Given the description of an element on the screen output the (x, y) to click on. 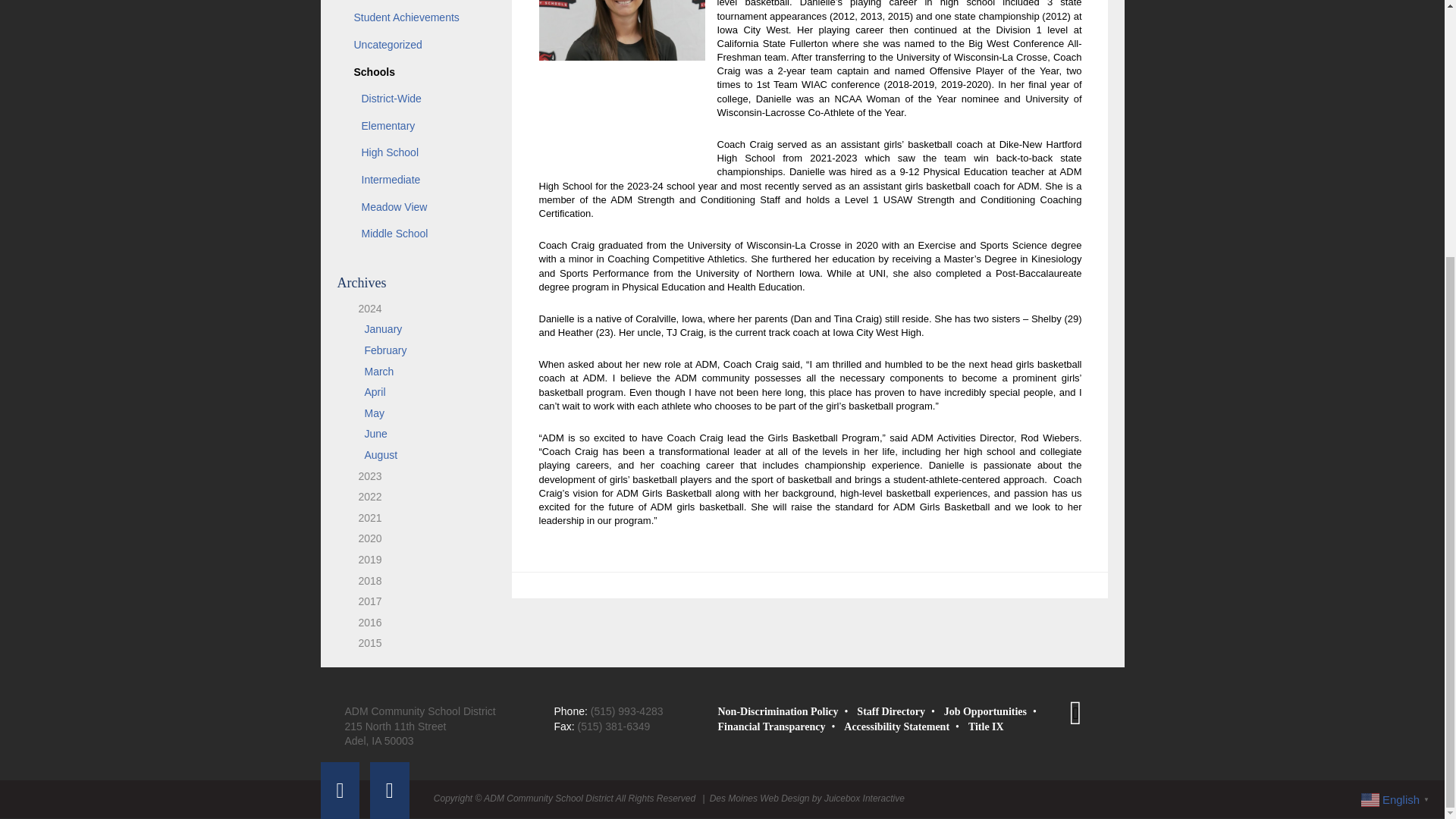
February (385, 349)
Archives for 2021 (363, 517)
Archives for 2022 (363, 496)
Elementary (415, 126)
Meadow View (415, 207)
Archives for 2020 (363, 538)
High School (415, 153)
Archives for 2017 (363, 601)
Archives for 2015 (363, 643)
Archives for 2019 (363, 559)
